Given the description of an element on the screen output the (x, y) to click on. 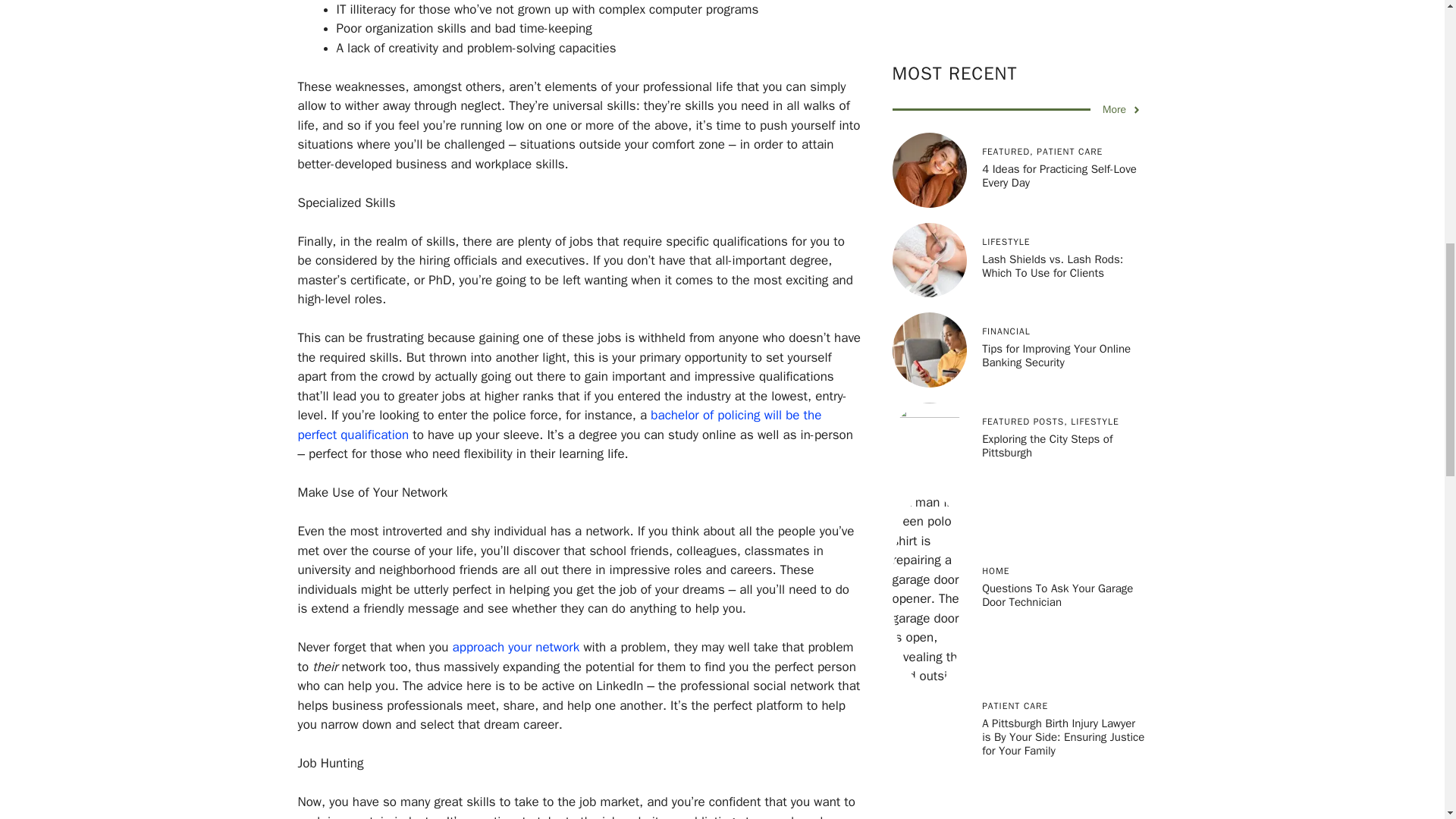
bachelor of policing will be the perfect qualification (559, 425)
approach your network (515, 647)
